Given the description of an element on the screen output the (x, y) to click on. 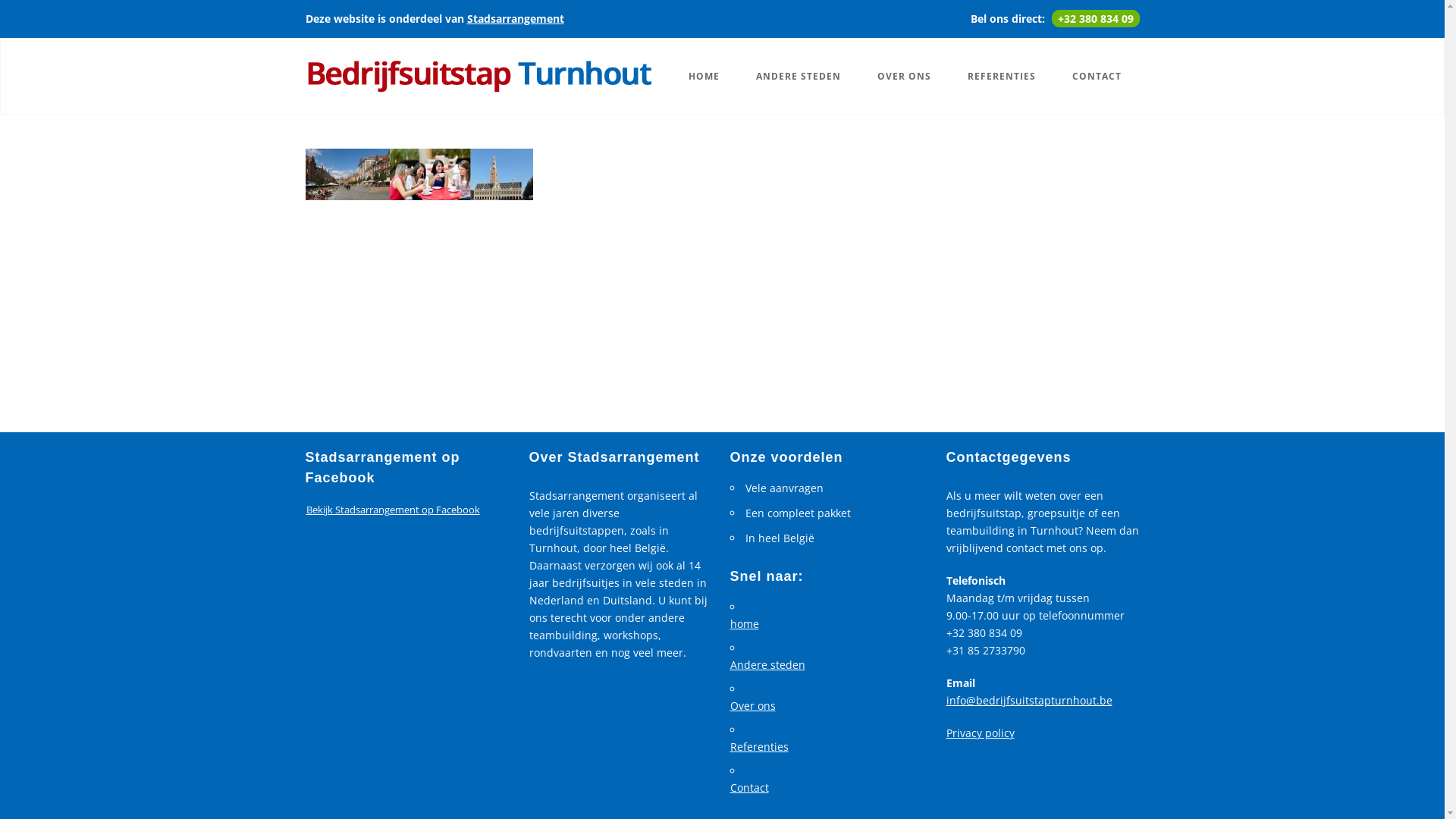
REFERENTIES Element type: text (1001, 76)
Contact Element type: text (827, 787)
Andere steden Element type: text (827, 664)
Referenties Element type: text (827, 746)
Bekijk Stadsarrangement op Facebook Element type: text (393, 509)
+32 380 834 09 Element type: text (1095, 18)
info@bedrijfsuitstapturnhout.be Element type: text (1029, 700)
HOME Element type: text (703, 76)
Privacy policy Element type: text (980, 732)
OVER ONS Element type: text (903, 76)
Stadsarrangement Element type: text (515, 18)
ANDERE STEDEN Element type: text (797, 76)
home Element type: text (827, 623)
CONTACT Element type: text (1096, 76)
Over ons Element type: text (827, 705)
